Given the description of an element on the screen output the (x, y) to click on. 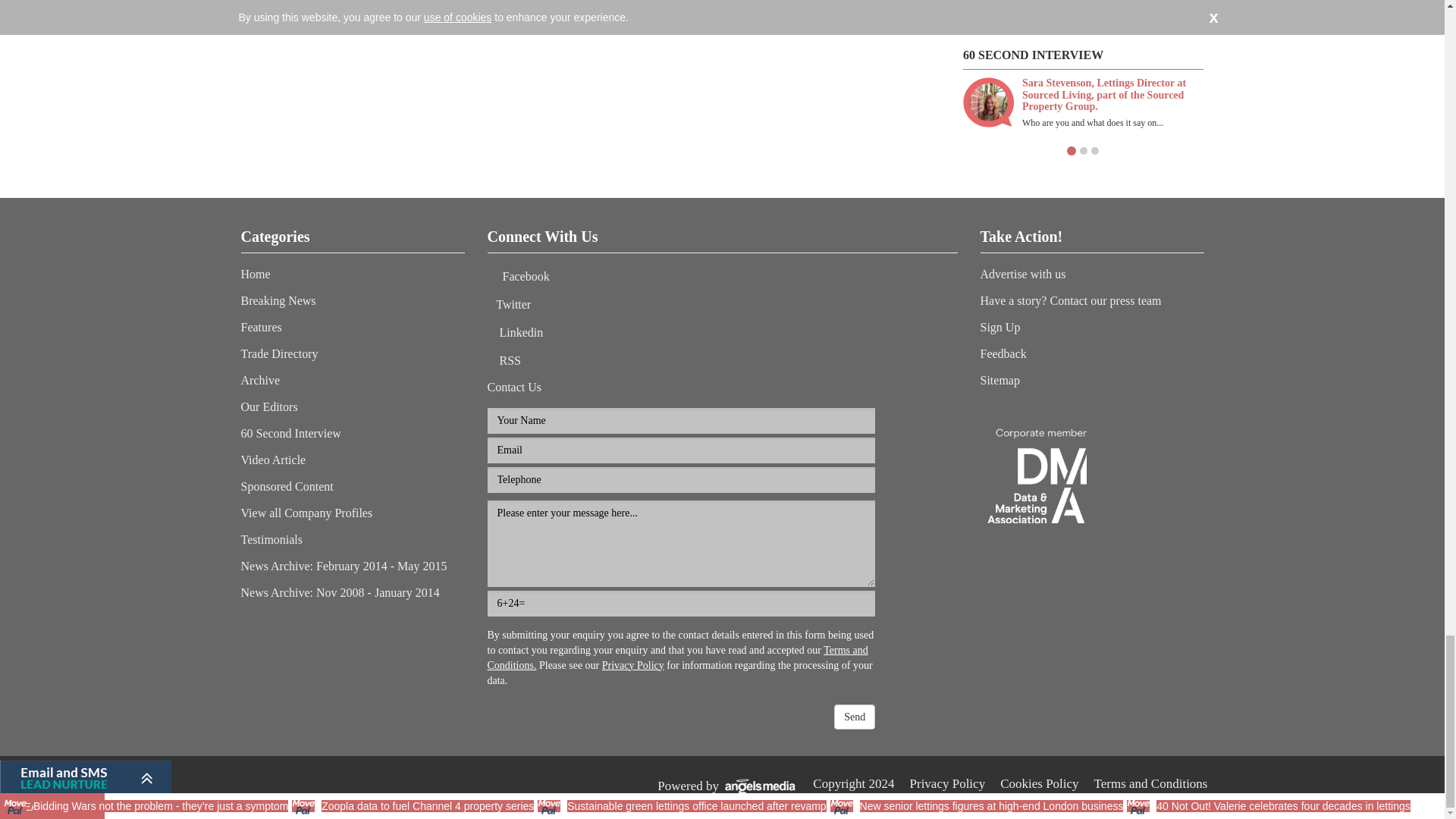
Send (854, 717)
